Given the description of an element on the screen output the (x, y) to click on. 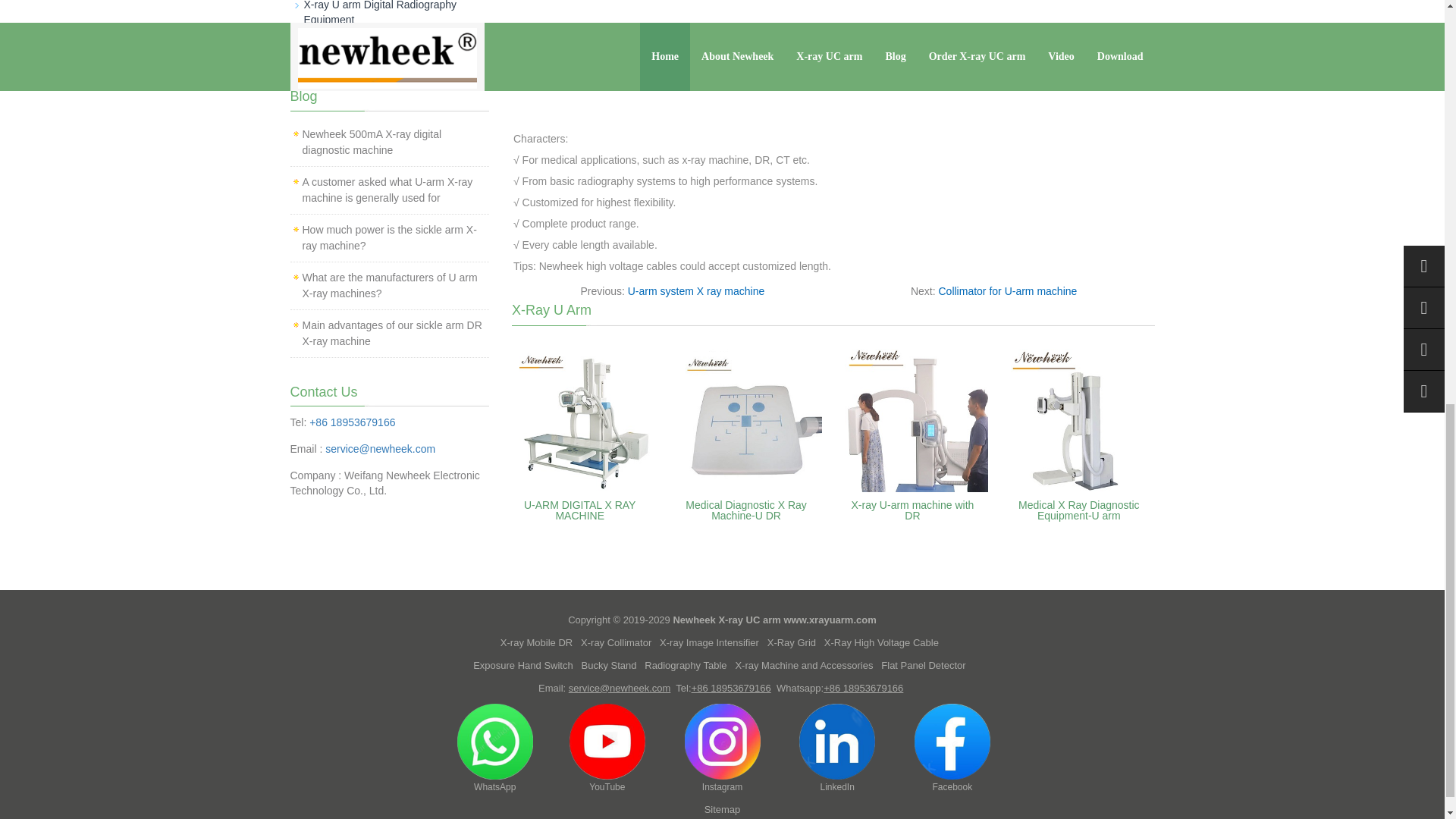
Collimator for U-arm machine (1008, 291)
Newheek 500mA X-ray digital diagnostic machine (371, 141)
What are the manufacturers of U arm X-ray machines? (389, 285)
Main advantages of our sickle arm DR X-ray machine (391, 333)
U-arm system X ray machine (695, 291)
U-ARM DIGITAL X RAY MACHINE (580, 509)
How much power is the sickle arm X-ray machine? (388, 237)
